Given the description of an element on the screen output the (x, y) to click on. 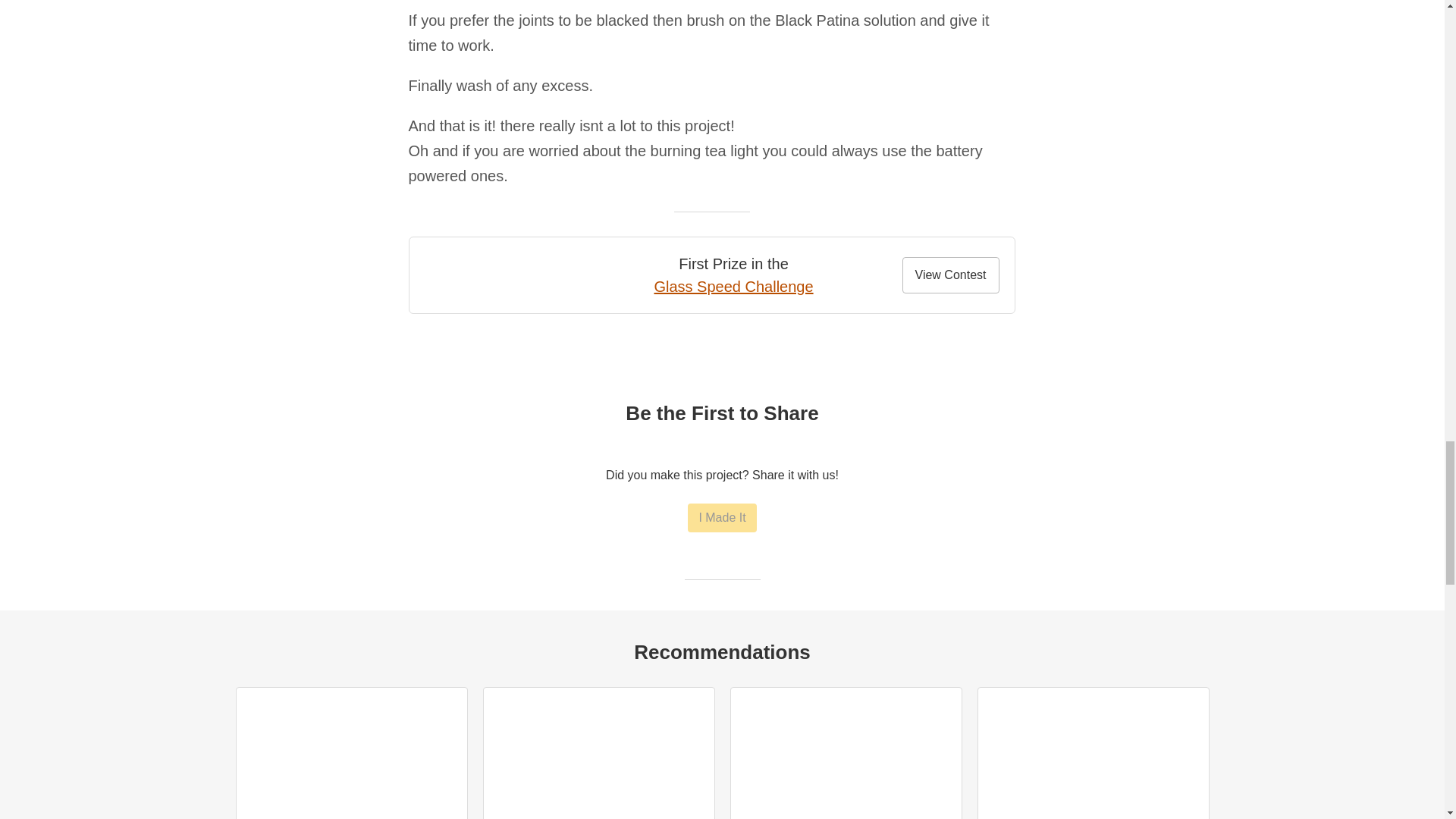
View Contest (950, 275)
Glass Speed Challenge (732, 286)
I Made It (721, 517)
